Given the description of an element on the screen output the (x, y) to click on. 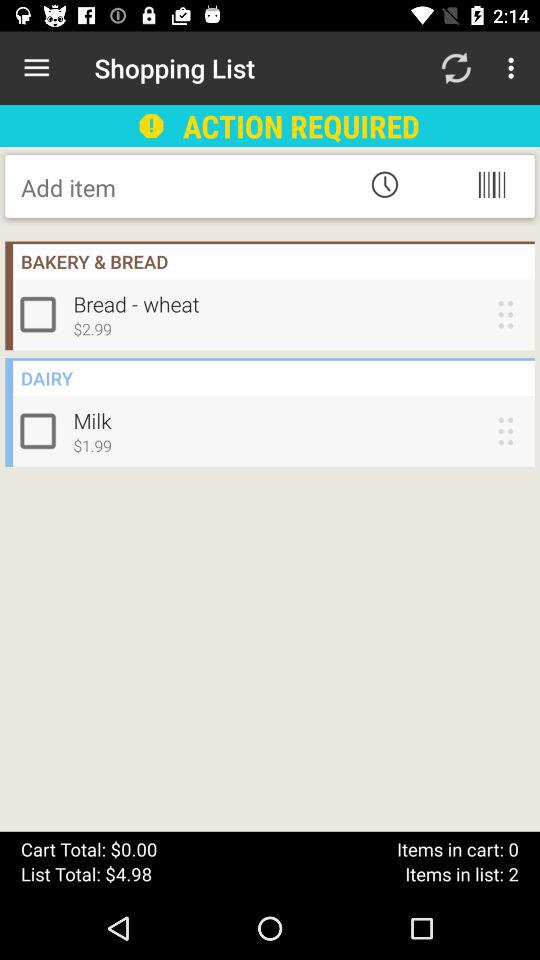
save (181, 187)
